Given the description of an element on the screen output the (x, y) to click on. 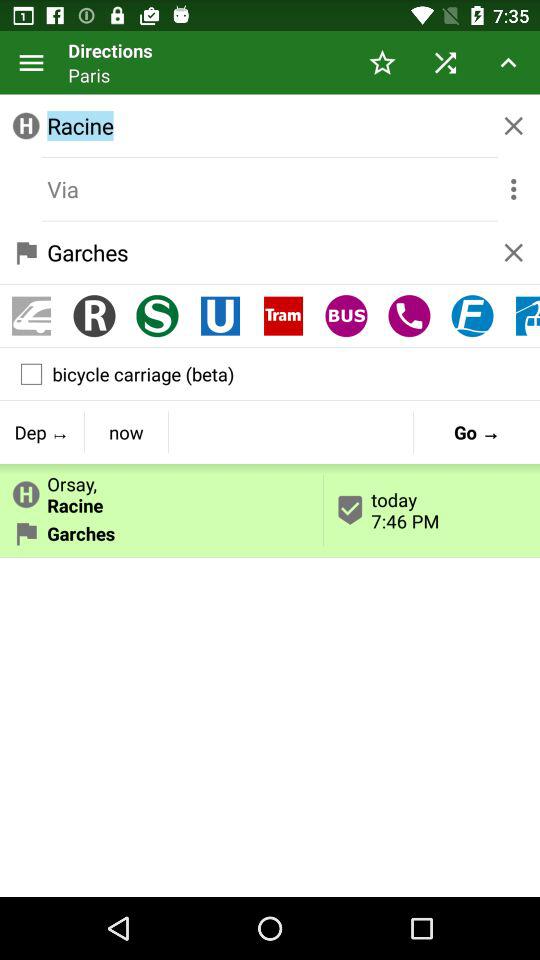
press button next to the today 7 46 (126, 431)
